Given the description of an element on the screen output the (x, y) to click on. 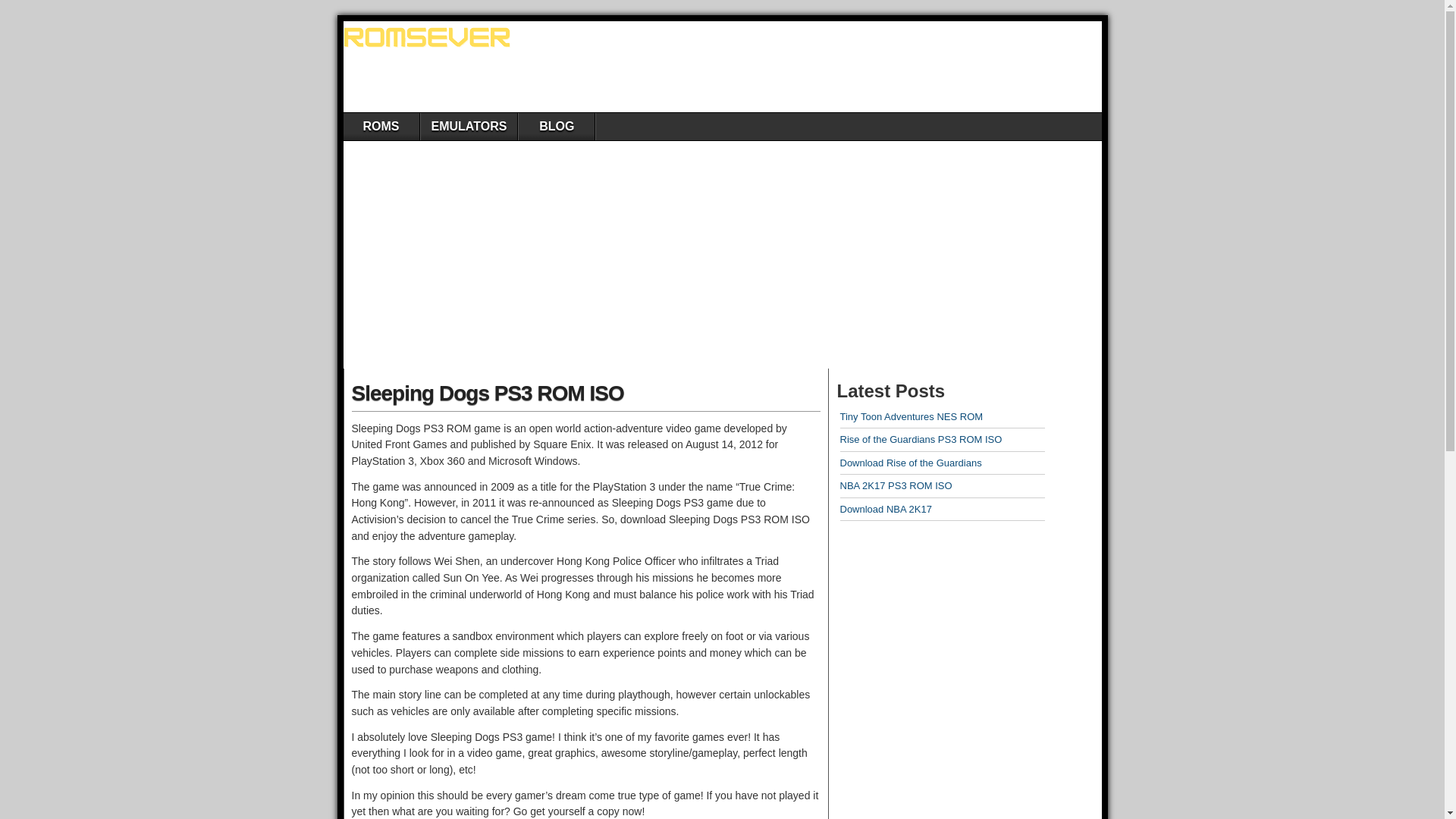
NBA 2K17 PS3 ROM ISO (896, 485)
Sleeping Dogs PS3 ROM ISO (488, 392)
Download NBA 2K17 (885, 509)
Tiny Toon Adventures NES ROM (912, 416)
BLOG (556, 126)
Rise of the Guardians PS3 ROM ISO (921, 439)
EMULATORS (468, 126)
Download Rise of the Guardians (910, 462)
ROMS (380, 126)
